Given the description of an element on the screen output the (x, y) to click on. 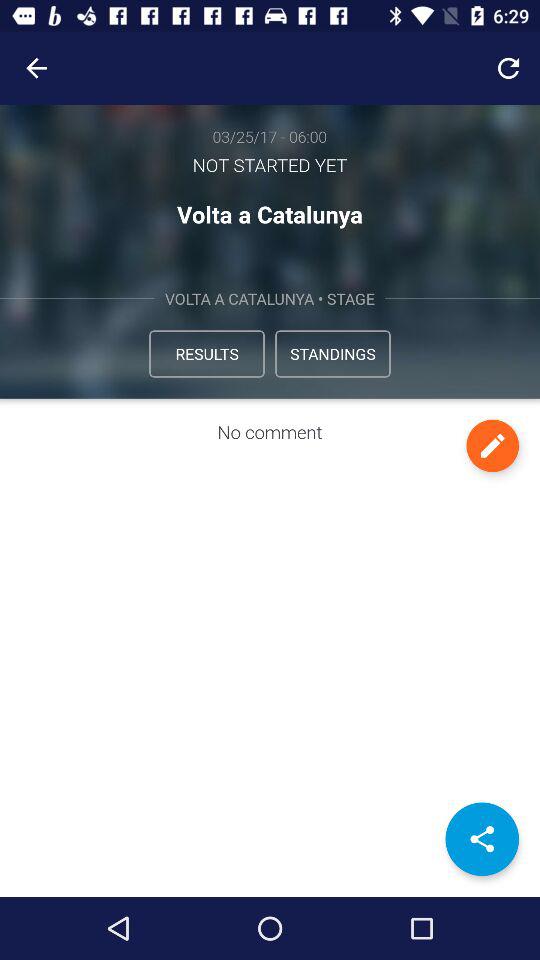
scroll until the results (206, 353)
